Given the description of an element on the screen output the (x, y) to click on. 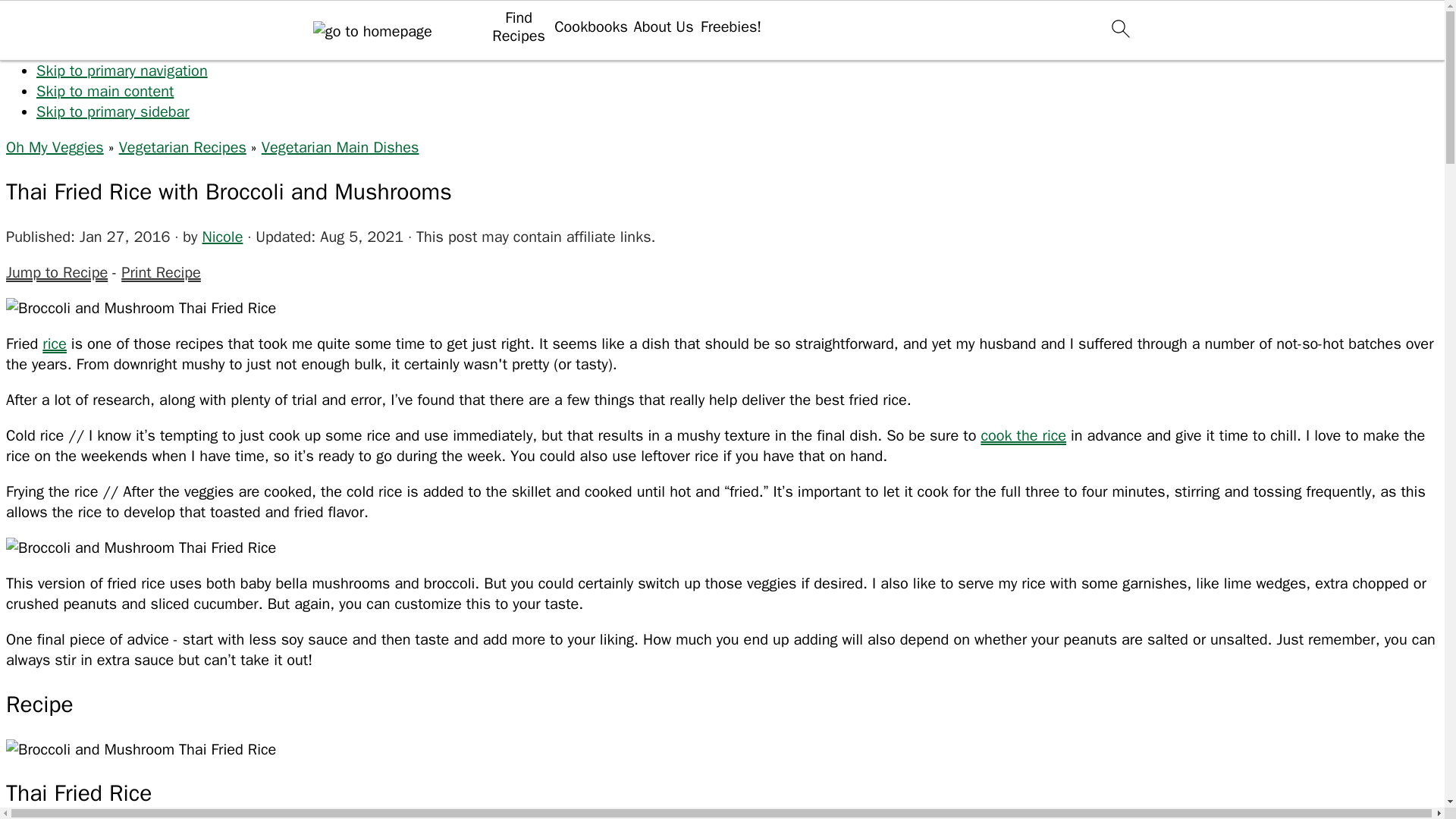
search icon (1119, 27)
Skip to main content (104, 90)
Skip to primary navigation (122, 70)
Skip to primary sidebar (112, 111)
Freebies! (730, 27)
About Us (663, 27)
Cookbooks (590, 27)
Instagram (986, 80)
Pinterest (986, 198)
Instagram (986, 42)
Find Recipes (518, 27)
Pinterest (986, 146)
